Given the description of an element on the screen output the (x, y) to click on. 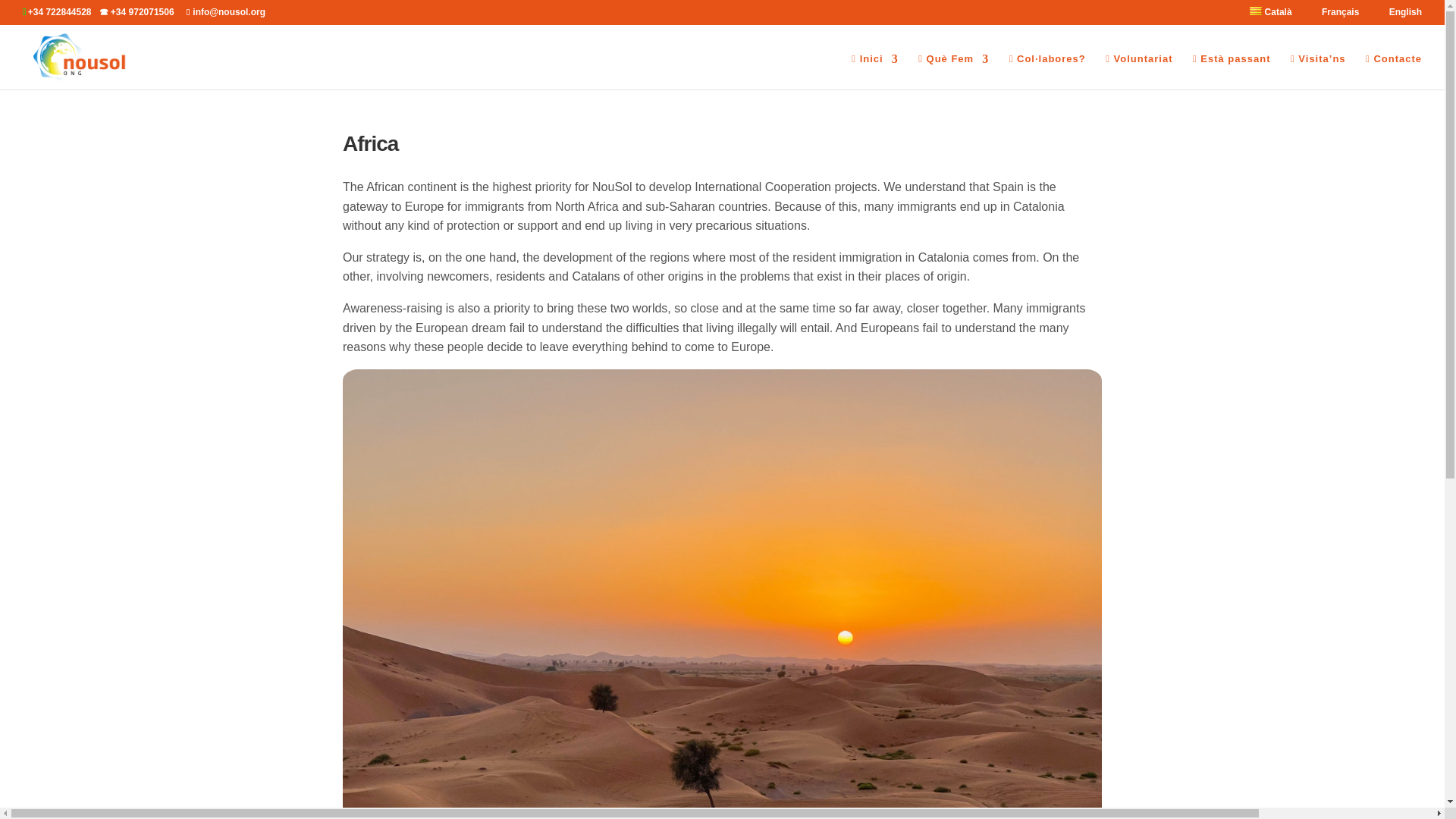
Voluntariat (1138, 71)
English (1397, 15)
Contacte (1393, 71)
English (1397, 15)
French (1332, 15)
Inici (874, 71)
